Given the description of an element on the screen output the (x, y) to click on. 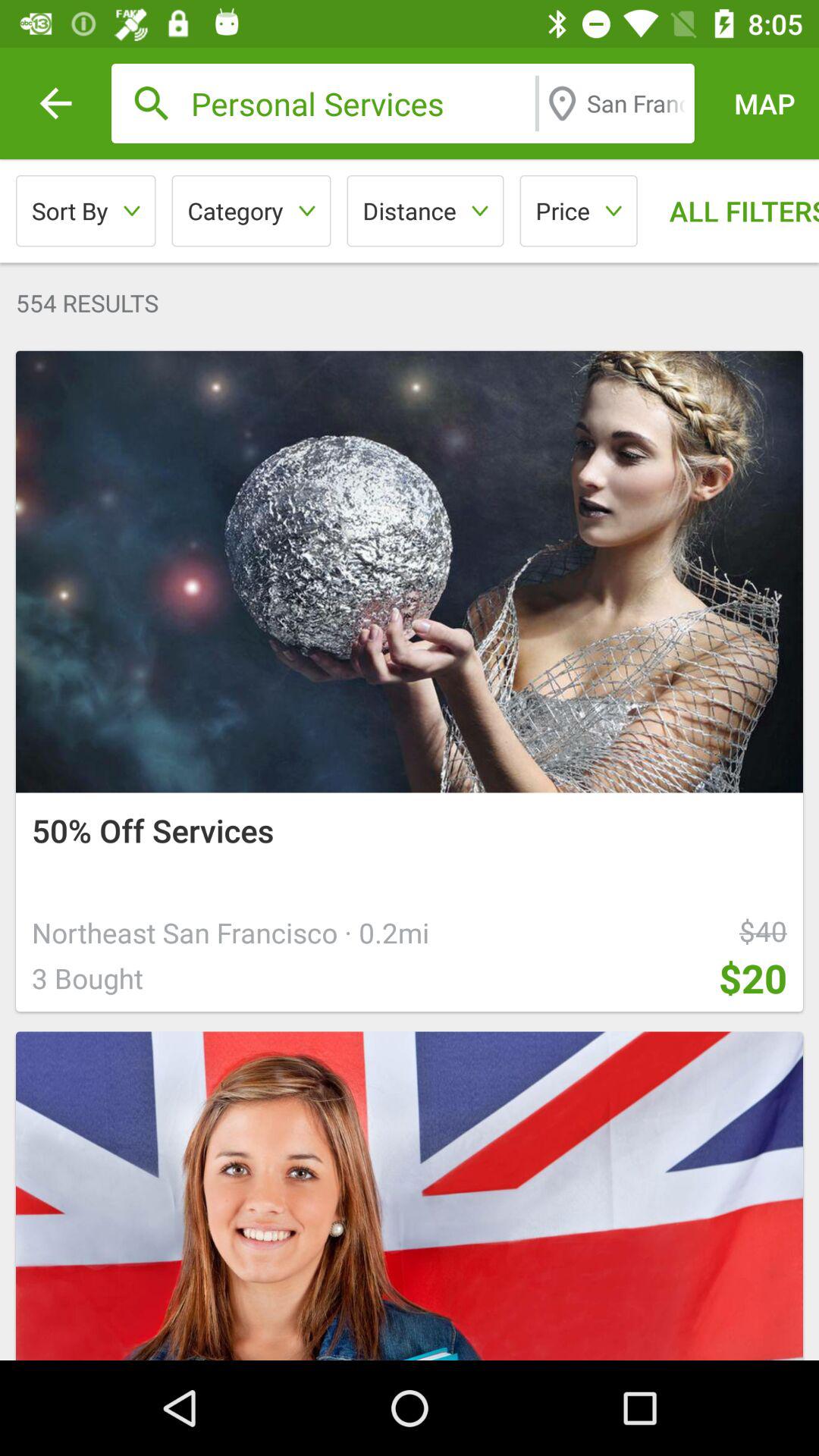
open the all filters (732, 210)
